Given the description of an element on the screen output the (x, y) to click on. 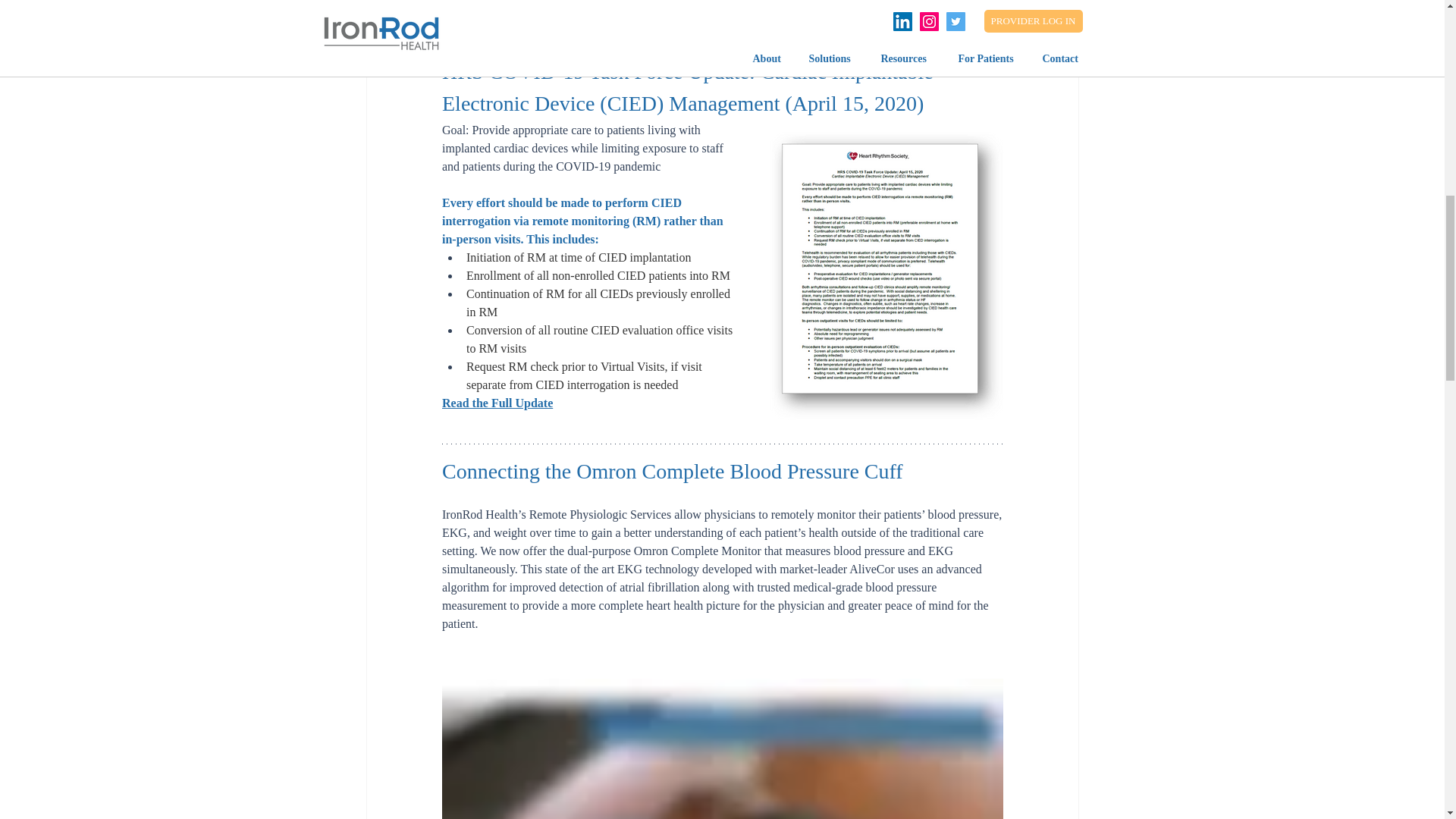
Read the Full Update (496, 402)
